Given the description of an element on the screen output the (x, y) to click on. 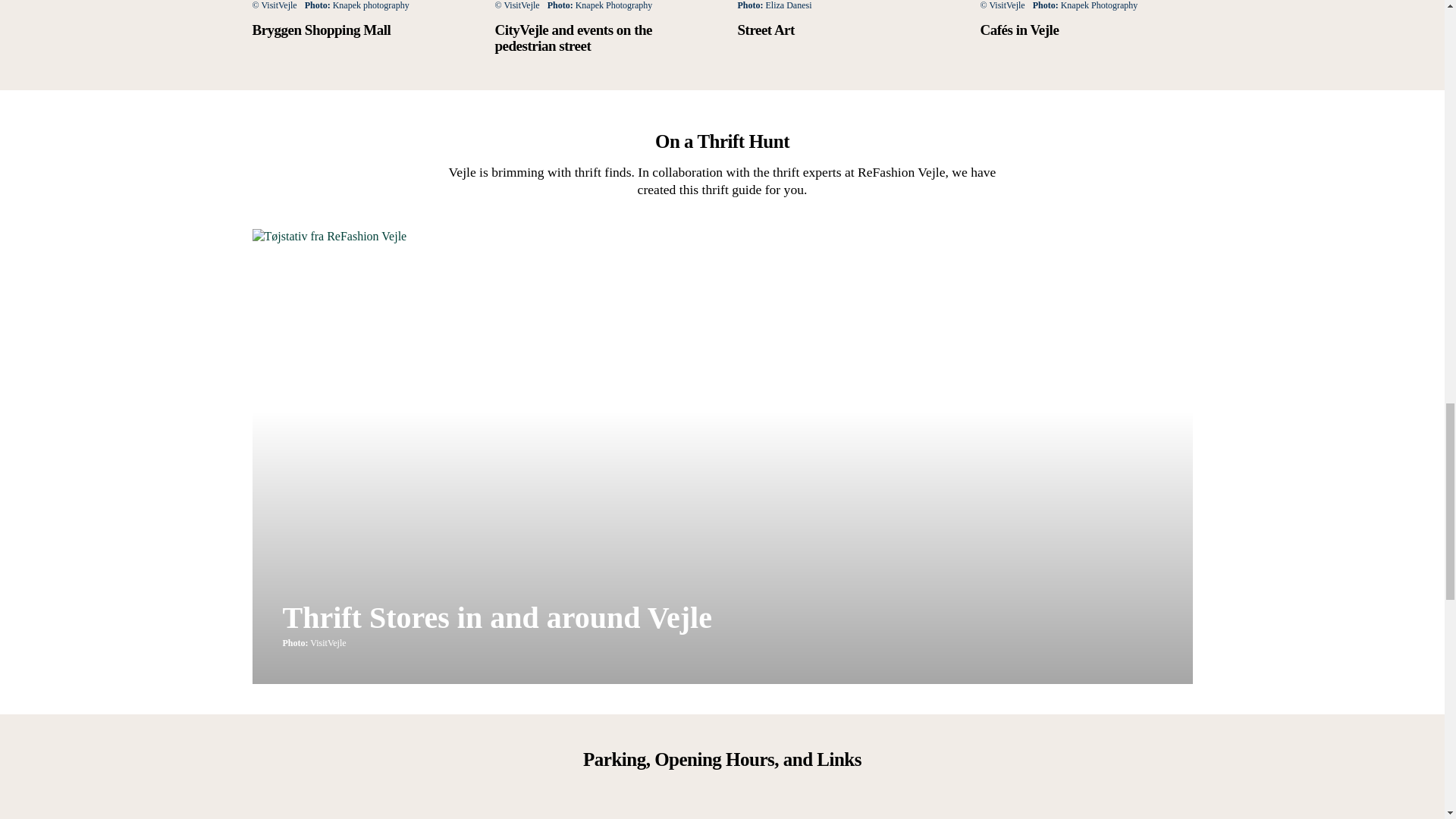
Find all second-hand store in the Vejle-area (496, 617)
Thrift Stores in and around Vejle (496, 617)
See informaiton about the indoor shopping mall  (357, 18)
Find all second-hand store in the Vejle-area (842, 18)
Information about shops and activities in Vejle city centre (1085, 18)
Find the cool street art in Vejle (600, 27)
